Given the description of an element on the screen output the (x, y) to click on. 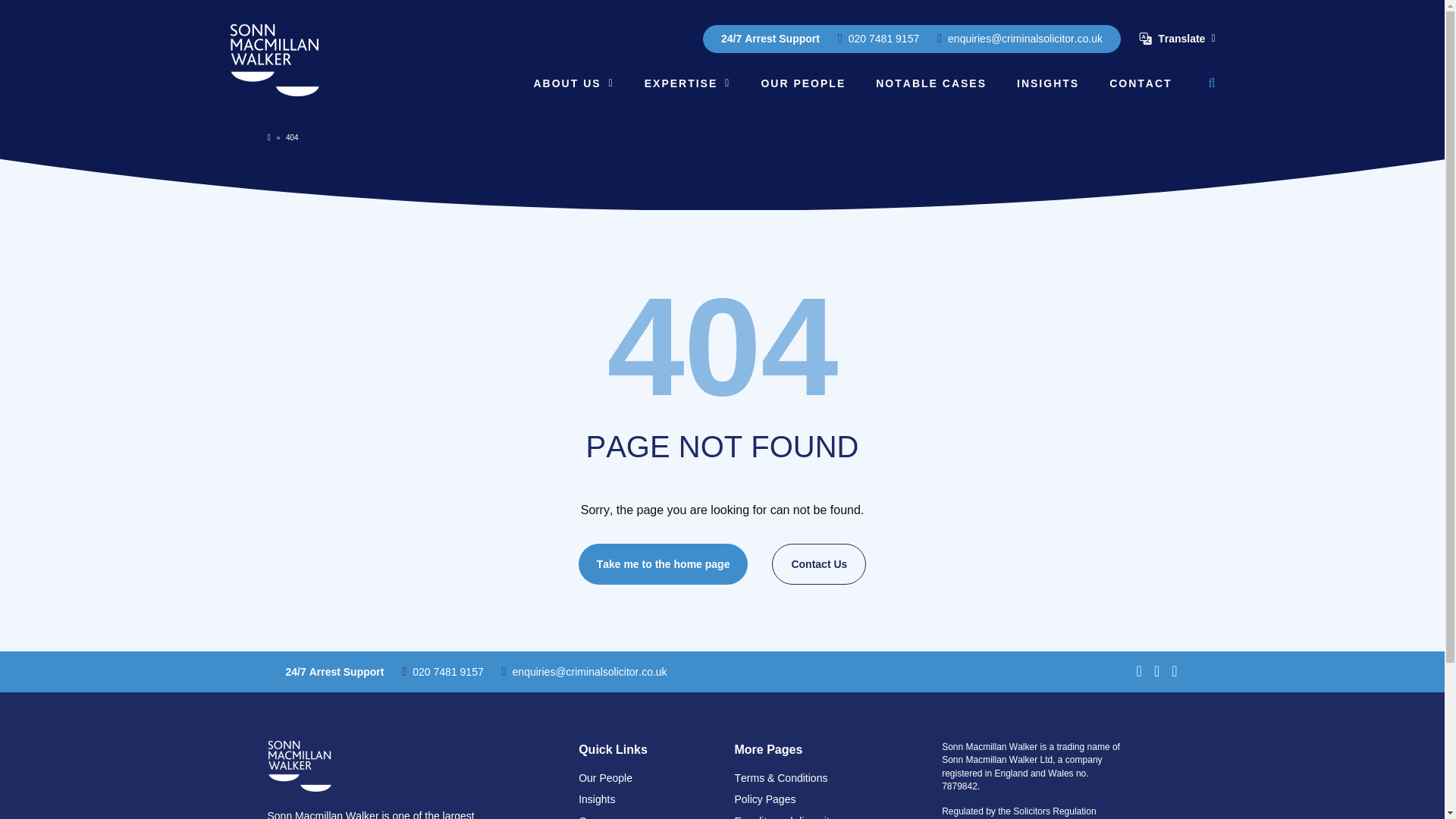
INSIGHTS (1047, 83)
EXPERTISE (687, 83)
Translate (1176, 38)
Take me to the home page (663, 562)
020 7481 9157 (878, 38)
020 7481 9157 (442, 671)
OUR PEOPLE (802, 83)
Contact Us (818, 562)
NOTABLE CASES (931, 83)
ABOUT US (572, 83)
